Given the description of an element on the screen output the (x, y) to click on. 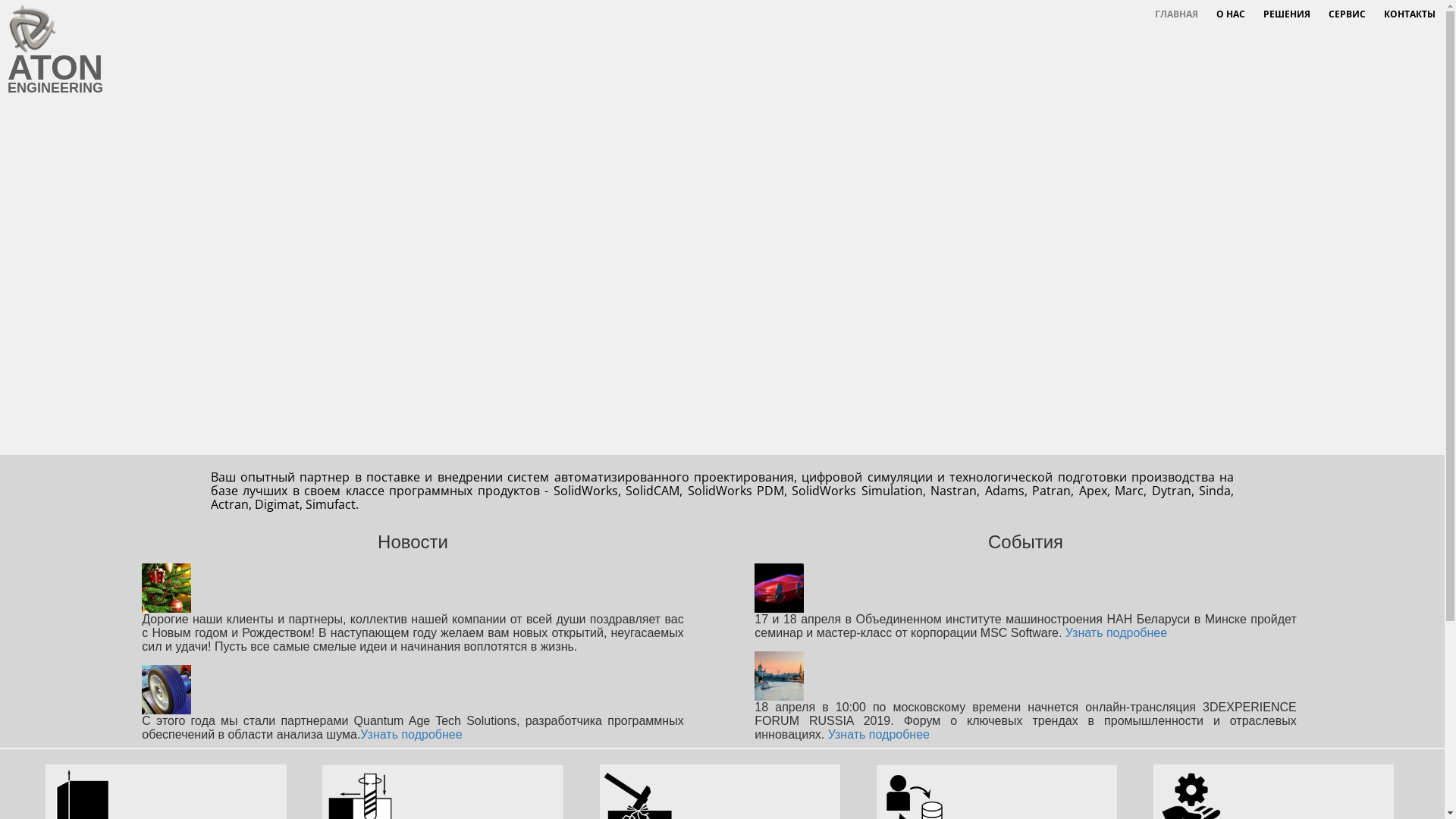
ATON
ENGINEERING Element type: text (362, 48)
